Given the description of an element on the screen output the (x, y) to click on. 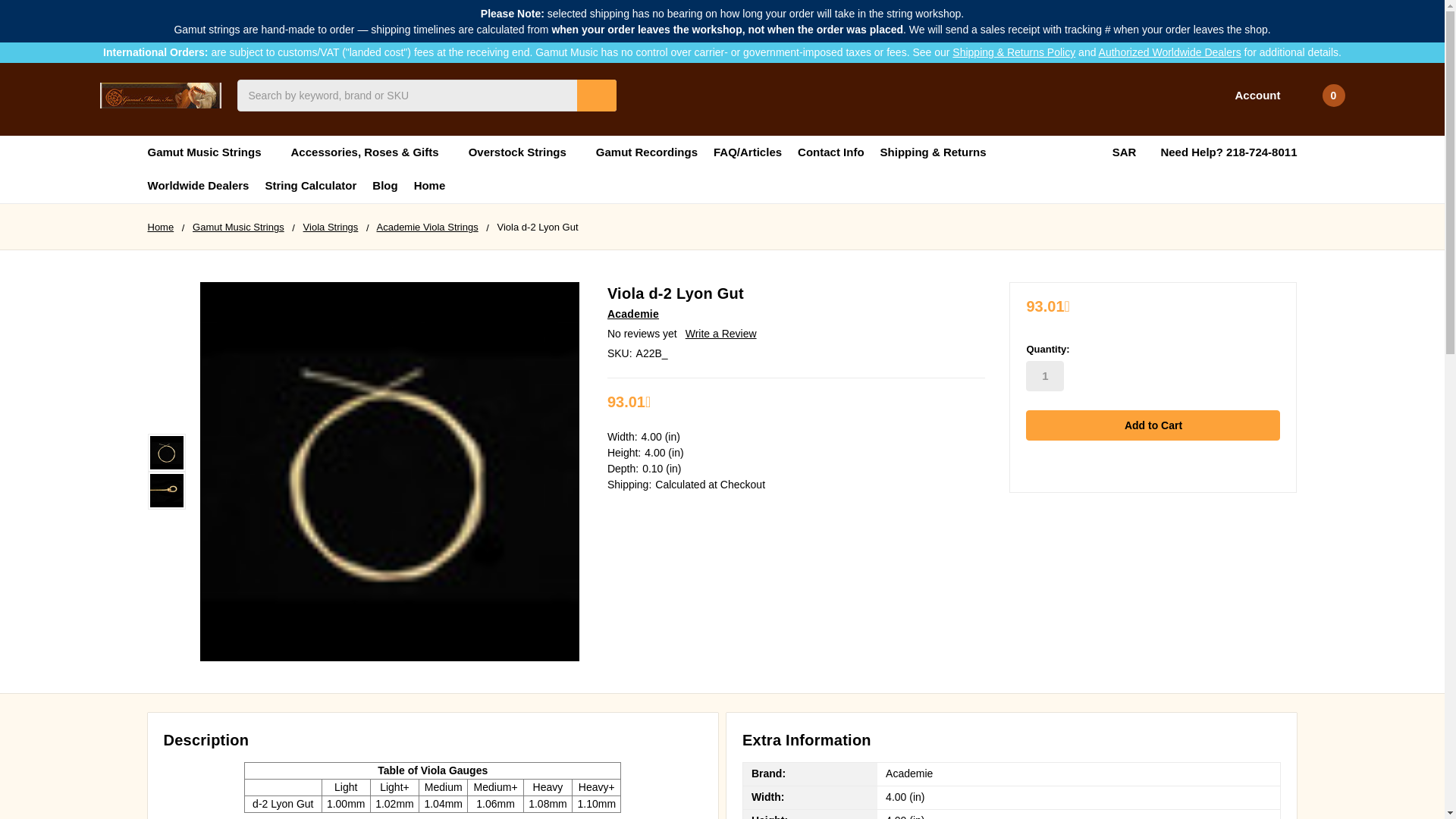
1 (1045, 376)
Account (1247, 95)
Gamut Music (160, 95)
Viola d-2 Lyon Gut (166, 490)
Gamut Music Strings (211, 151)
Viola d-2 Lyon Gut (166, 452)
Authorized Worldwide Dealers (1170, 51)
0 (1321, 95)
Add to Cart (1152, 425)
